Given the description of an element on the screen output the (x, y) to click on. 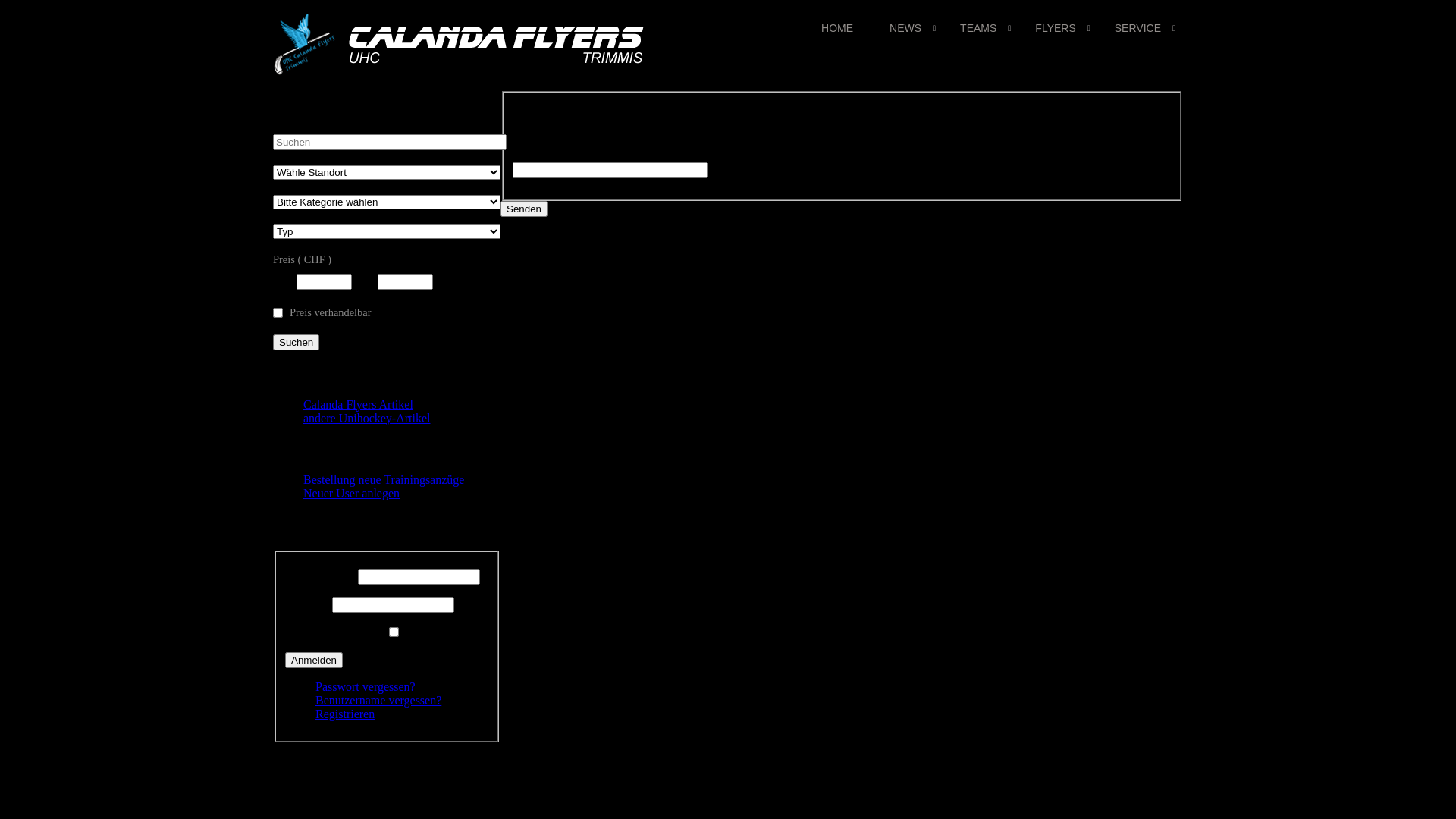
Registrieren Element type: text (344, 713)
Senden Element type: text (523, 208)
HOME Element type: text (836, 27)
andere Unihockey-Artikel Element type: text (366, 417)
Home Element type: hover (462, 71)
Anmelden Element type: text (313, 660)
NEWS Element type: text (906, 27)
SERVICE Element type: text (1138, 27)
Benutzername vergessen? Element type: text (378, 699)
Passwort vergessen? Element type: text (365, 686)
TEAMS Element type: text (979, 27)
Suchen Element type: text (296, 342)
Neuer User anlegen Element type: text (351, 492)
FLYERS Element type: text (1056, 27)
Calanda Flyers Artikel Element type: text (358, 404)
